Given the description of an element on the screen output the (x, y) to click on. 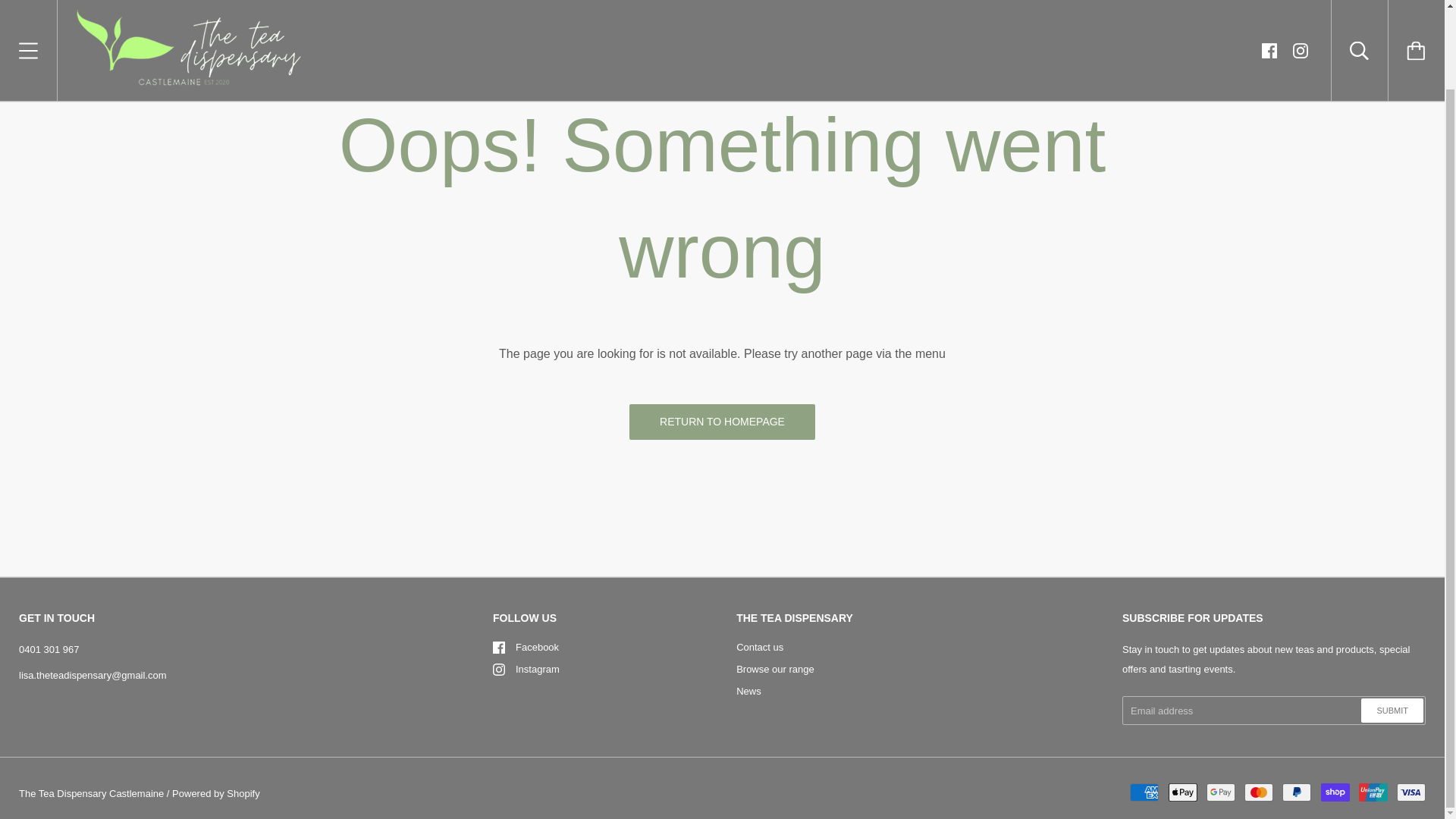
News (748, 690)
American Express (1143, 791)
Union Pay (1372, 791)
Shop Pay (1334, 791)
Browse our range (774, 668)
Mastercard (1258, 791)
Instagram (499, 669)
Powered by Shopify (215, 793)
RETURN TO HOMEPAGE (721, 421)
SUBMIT (1392, 710)
